Given the description of an element on the screen output the (x, y) to click on. 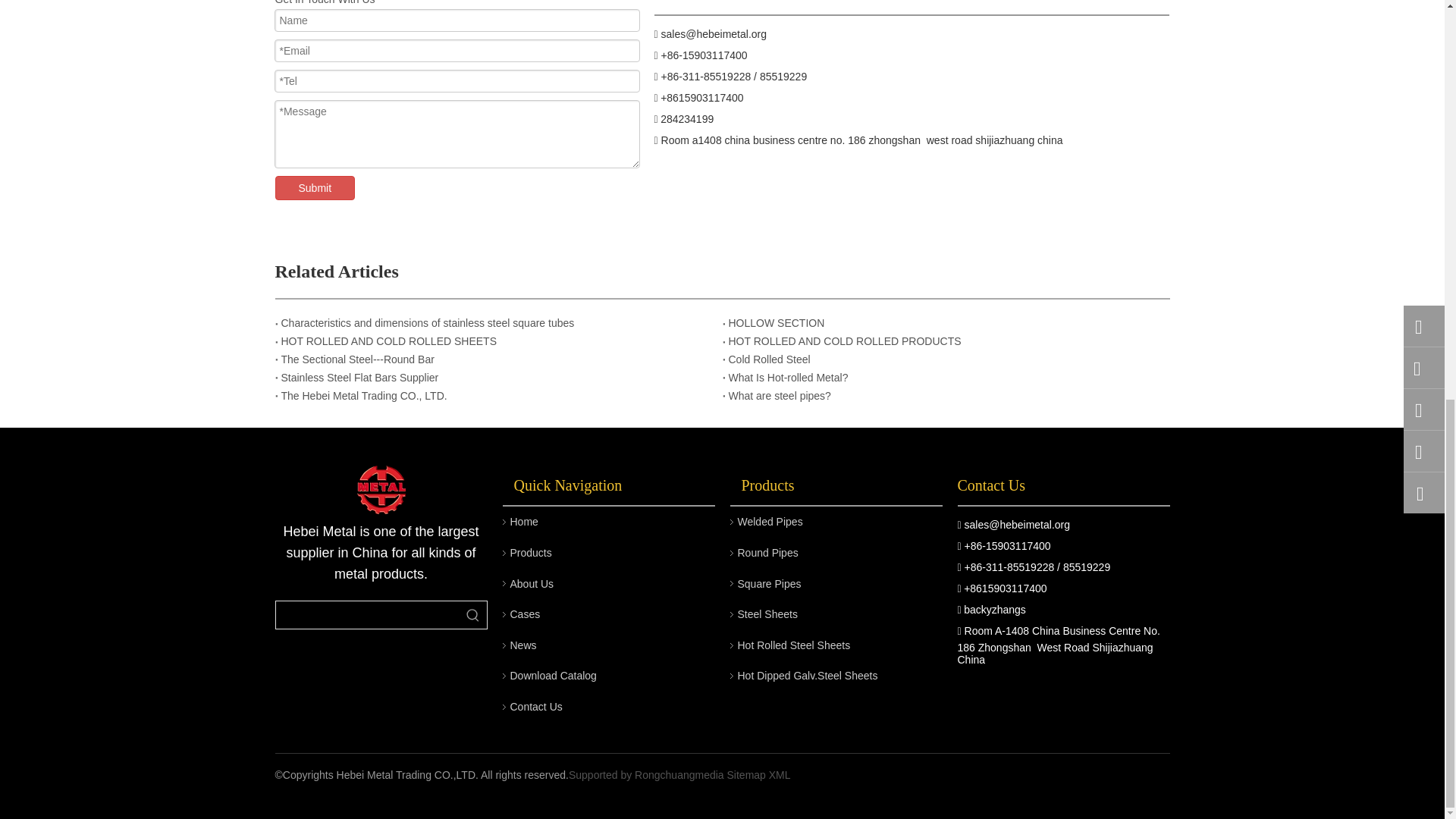
HOLLOW SECTION (945, 323)
Submit (315, 187)
